Given the description of an element on the screen output the (x, y) to click on. 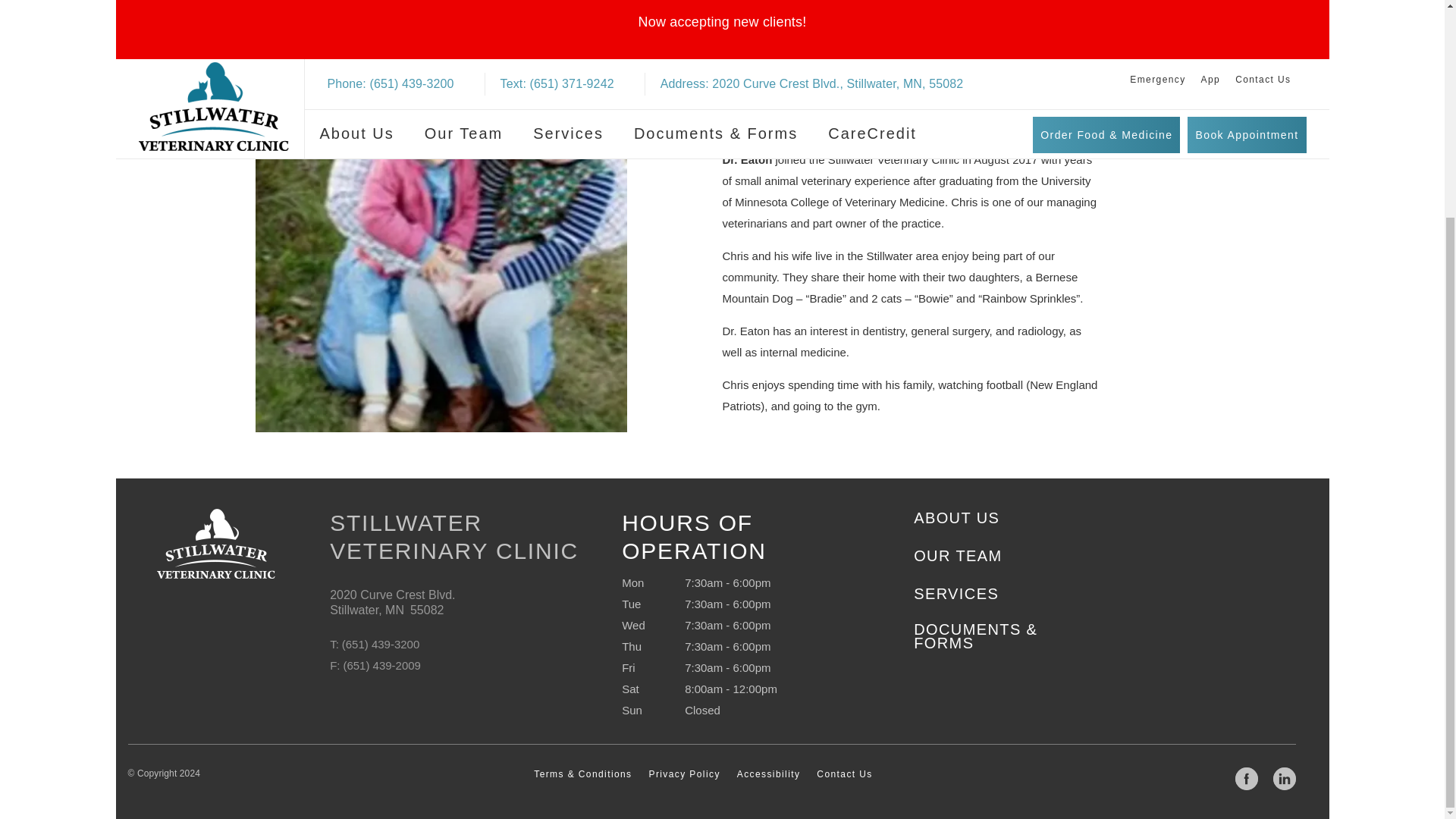
Contact Us (844, 798)
ABOUT US (956, 542)
OUR TEAM (957, 581)
SERVICES (956, 618)
Privacy Policy (684, 798)
Accessibility (768, 798)
